Given the description of an element on the screen output the (x, y) to click on. 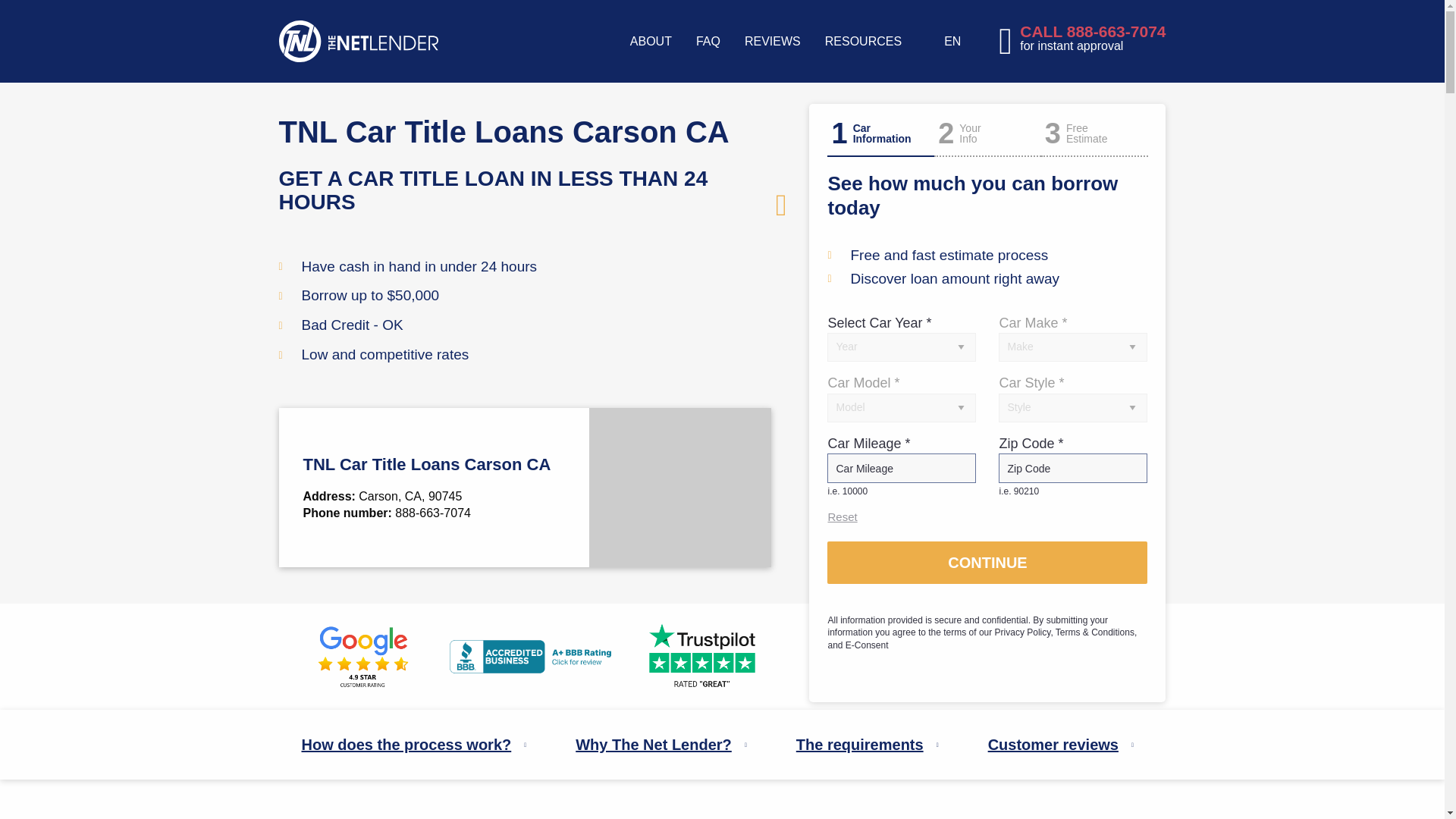
FAQ (708, 40)
How does the process work? (416, 744)
REVIEWS (772, 40)
CONTINUE (987, 562)
Why The Net Lender? (663, 744)
Reset (842, 516)
EN (955, 40)
CALL 888-663-7074 (1093, 31)
Customer reviews (1062, 744)
RESOURCES (863, 40)
